Given the description of an element on the screen output the (x, y) to click on. 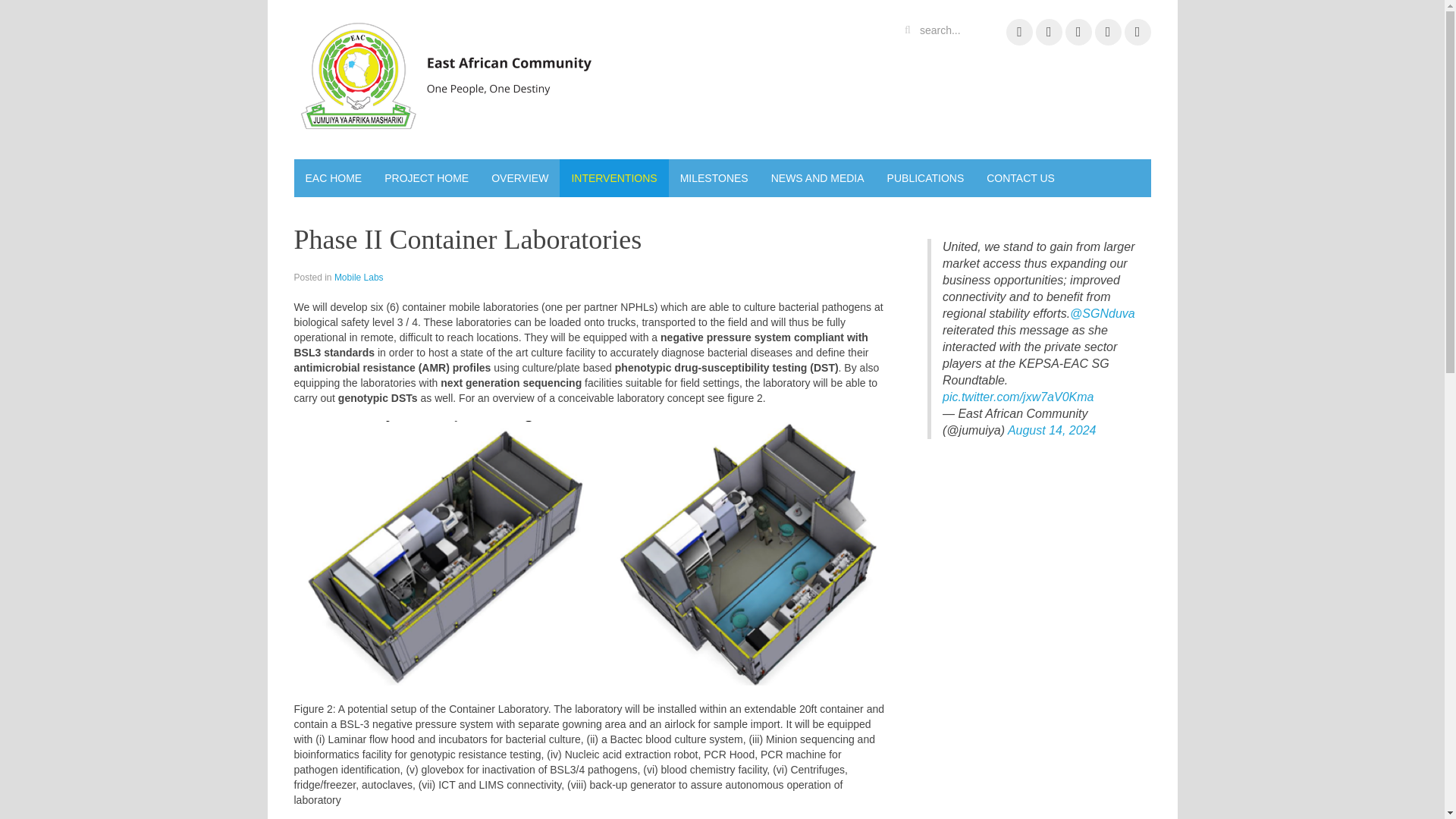
OVERVIEW (519, 177)
INTERVENTIONS (613, 177)
CONTACT US (1020, 177)
NEWS AND MEDIA (818, 177)
EAC HOME (334, 177)
PUBLICATIONS (925, 177)
PROJECT HOME (426, 177)
August 14, 2024 (1051, 430)
MILESTONES (714, 177)
Mobile Labs (359, 276)
